Given the description of an element on the screen output the (x, y) to click on. 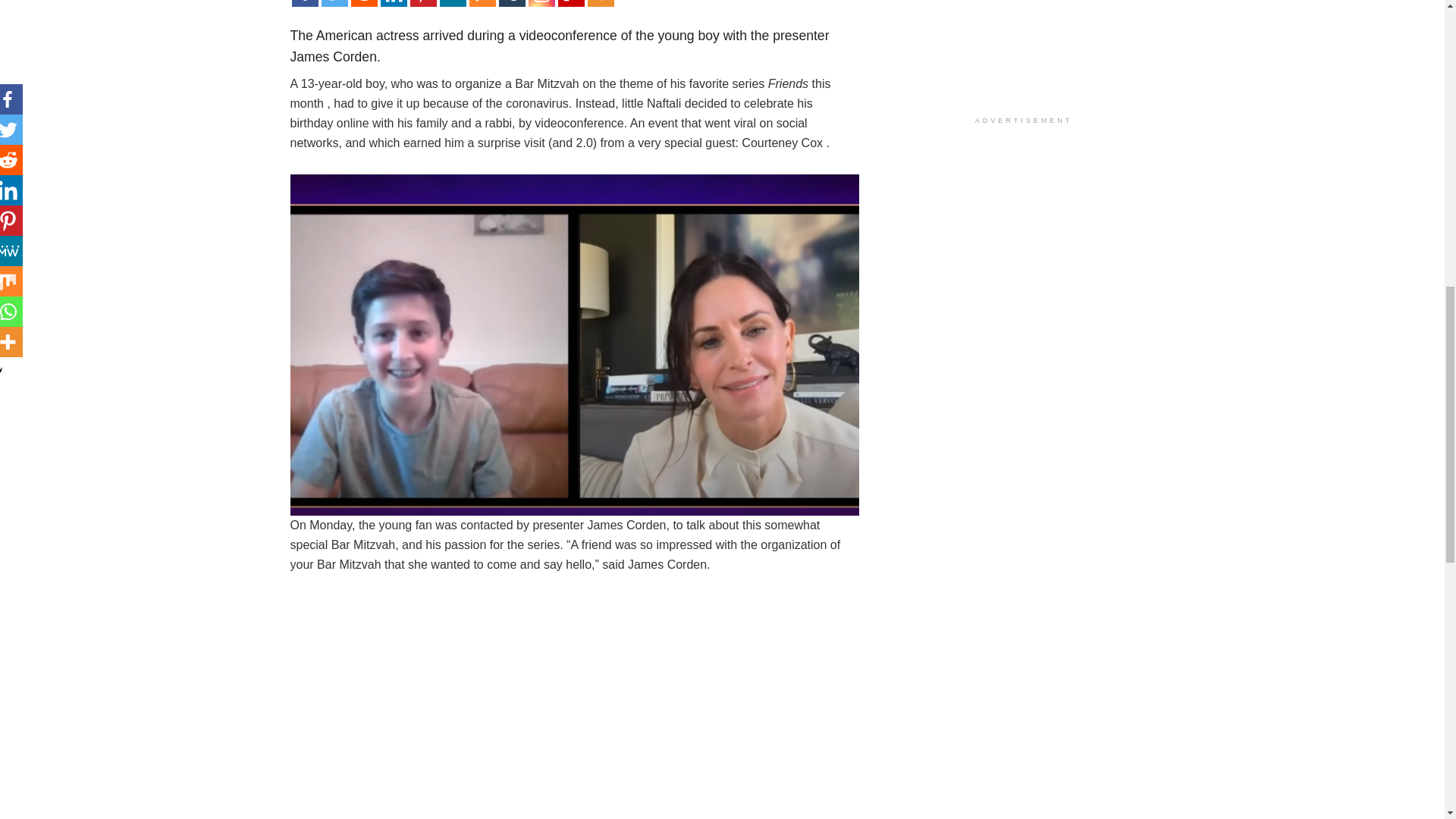
Tumblr (512, 3)
Reddit (363, 3)
MeWe (452, 3)
Twitter (334, 3)
Instagram (540, 3)
Facebook (304, 3)
More (599, 3)
Flipboard (571, 3)
Mix (481, 3)
Linkedin (393, 3)
Pinterest (422, 3)
